Given the description of an element on the screen output the (x, y) to click on. 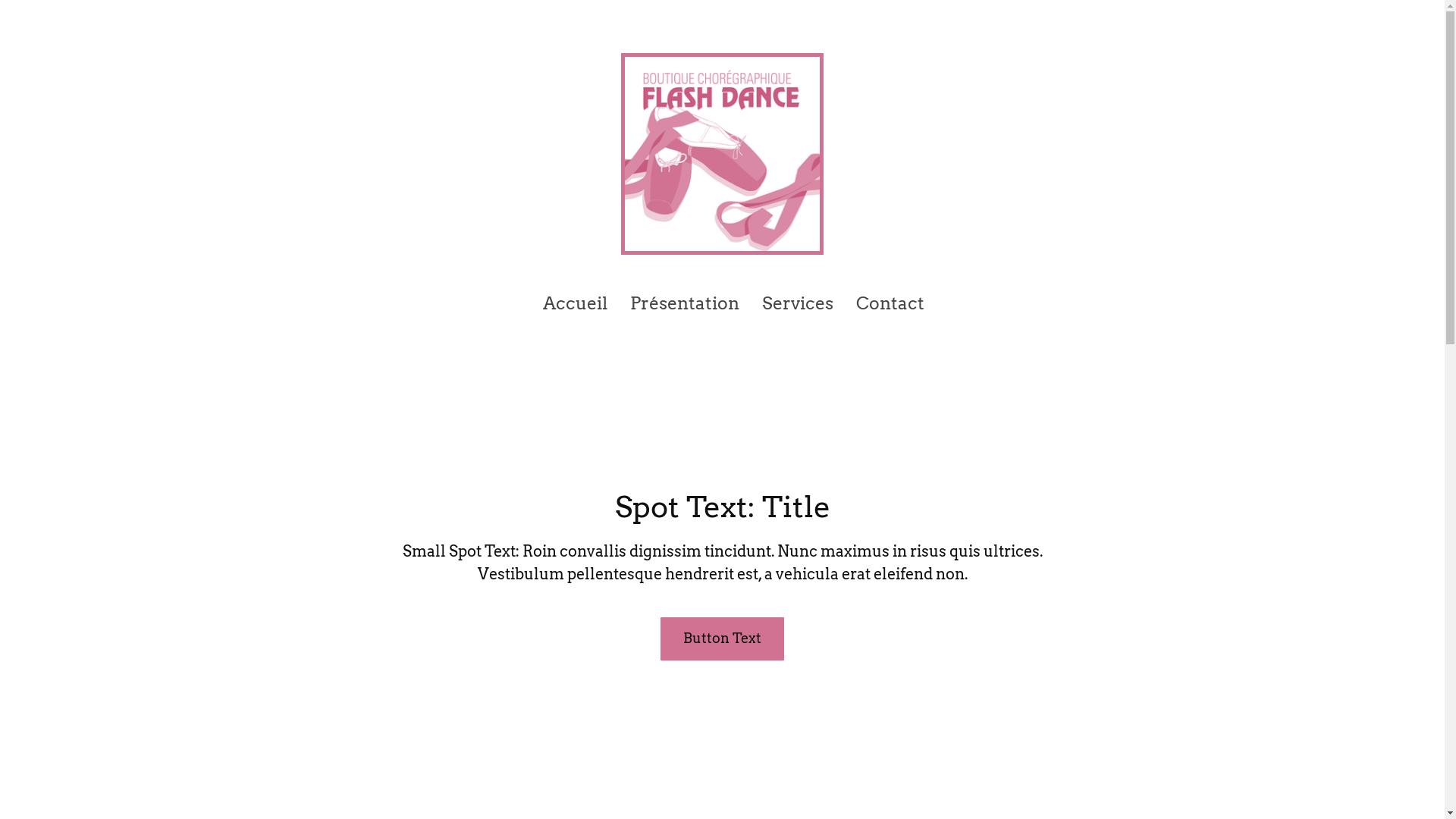
Services Element type: text (797, 303)
Accueil Element type: text (574, 303)
Contact Element type: text (890, 303)
Button Text Element type: text (721, 638)
